Given the description of an element on the screen output the (x, y) to click on. 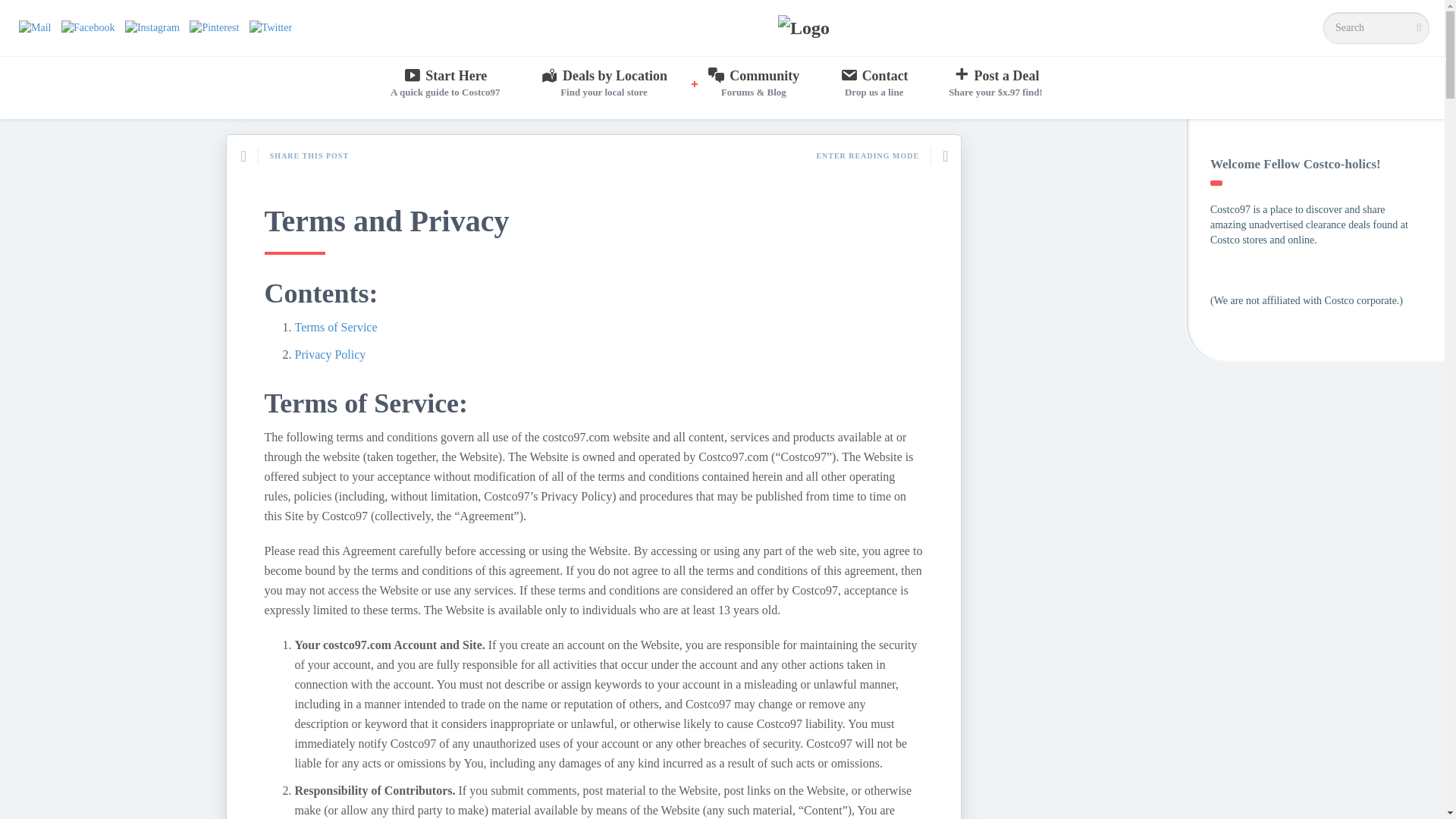
Search (20, 9)
Search for: (445, 84)
